Given the description of an element on the screen output the (x, y) to click on. 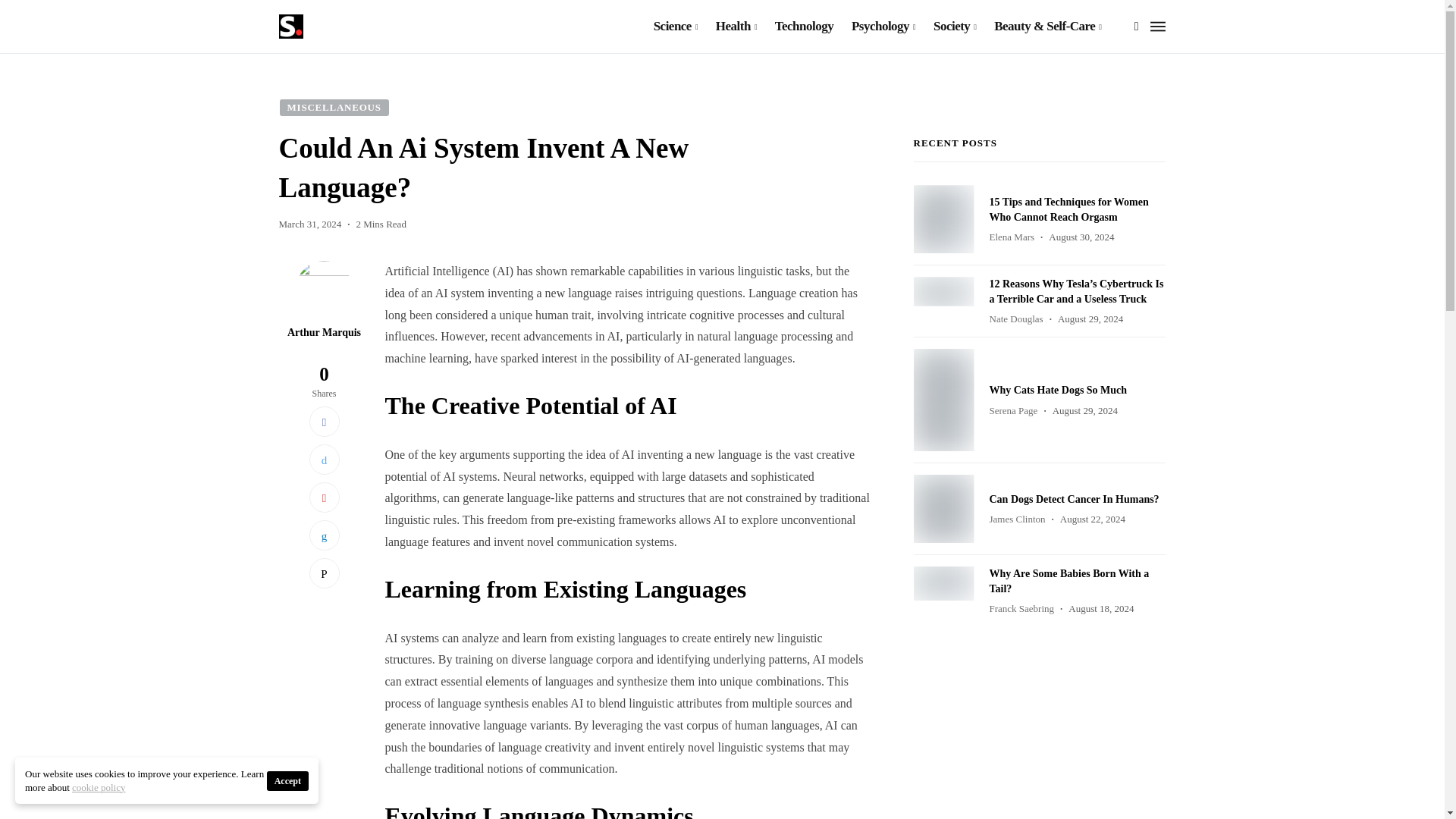
Posts by Nate Douglas (1015, 318)
Technology (803, 26)
15 Tips and Techniques for Women Who Cannot Reach Orgasm 4 (943, 219)
Posts by Elena Mars (1010, 236)
Can Dogs Detect Cancer In Humans? 7 (943, 508)
Psychology (883, 26)
Posts by Serena Page (1012, 410)
